Given the description of an element on the screen output the (x, y) to click on. 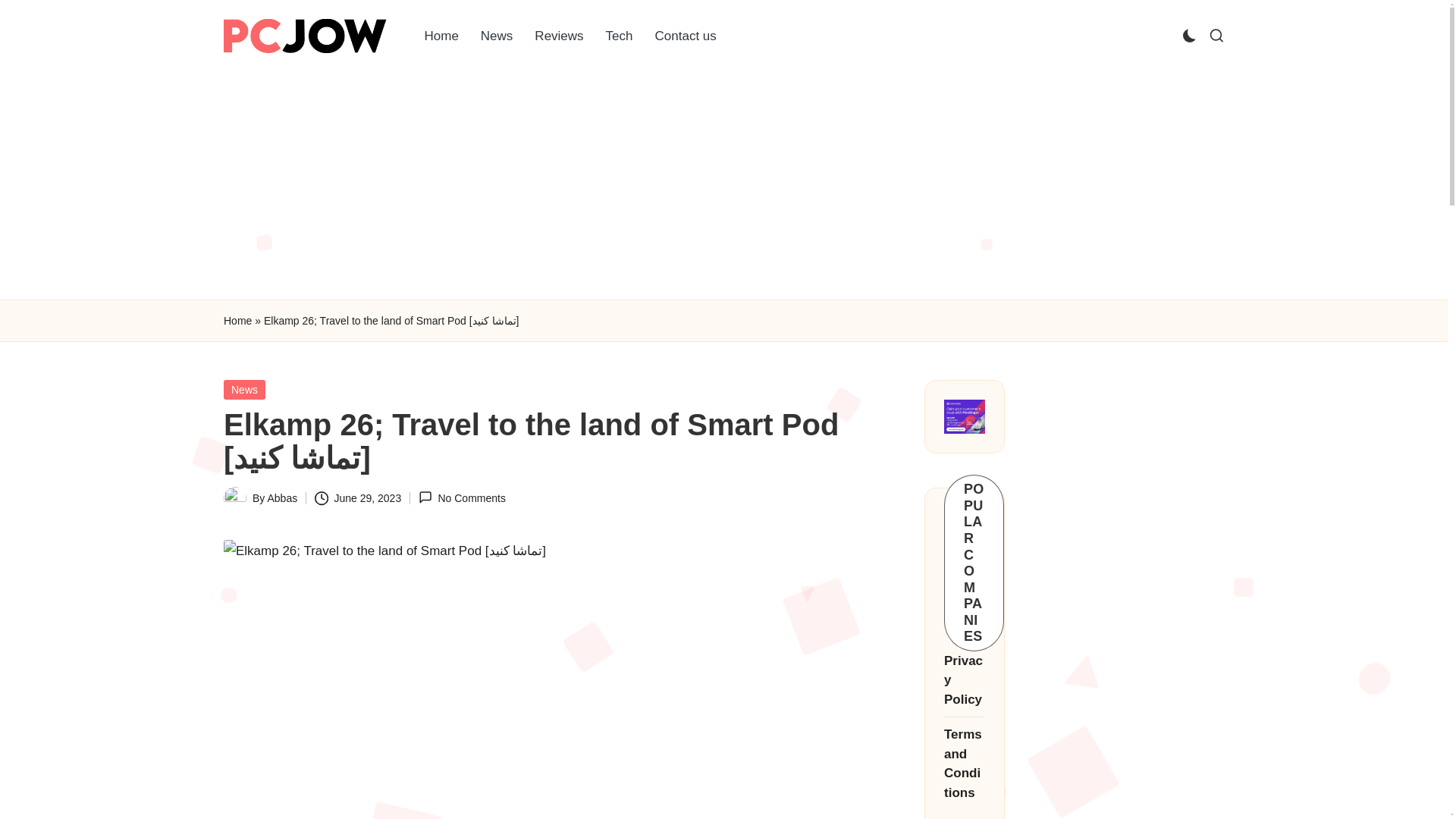
No Comments (462, 497)
Home (961, 531)
View all posts by Abbas (281, 498)
News (497, 36)
Tech (619, 36)
Reviews (559, 36)
Abbas (281, 498)
News (244, 389)
Home (440, 36)
